Given the description of an element on the screen output the (x, y) to click on. 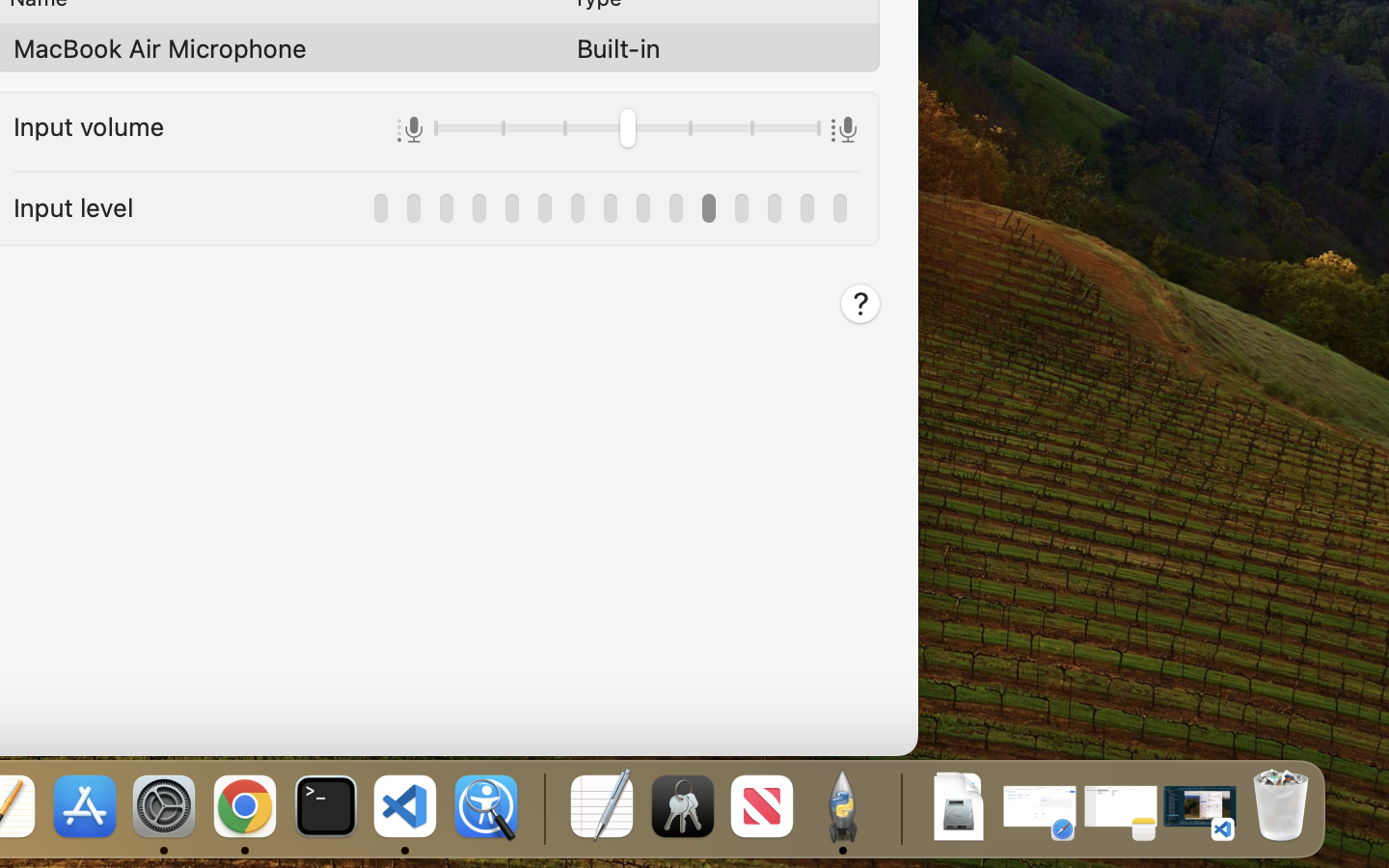
Built-in Element type: AXStaticText (617, 47)
